Given the description of an element on the screen output the (x, y) to click on. 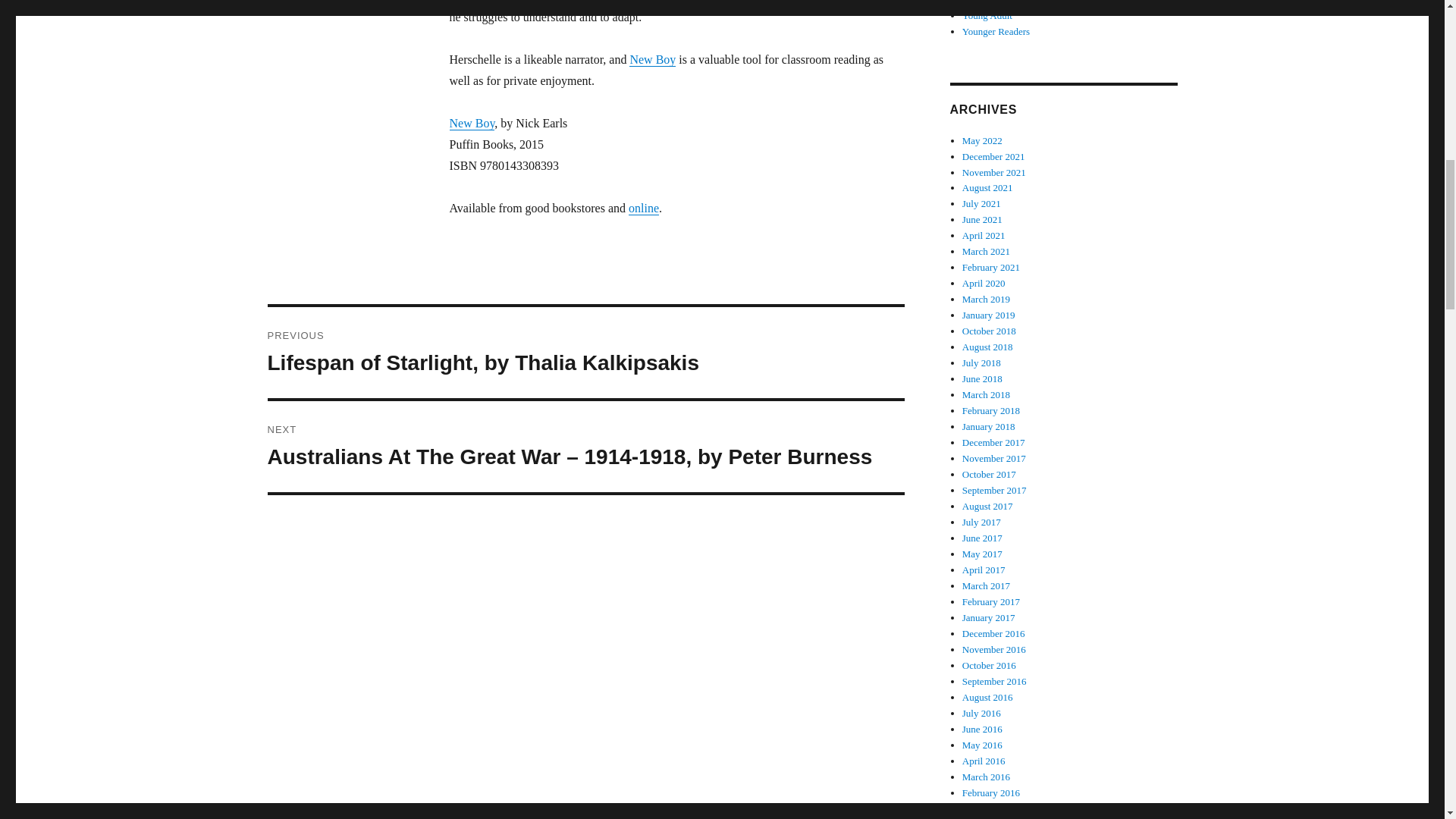
Uncategorised (990, 2)
New Boy (651, 59)
December 2021 (993, 156)
Younger Readers (995, 30)
November 2021 (994, 172)
Young Adult (986, 15)
online (643, 207)
August 2021 (987, 187)
May 2022 (982, 140)
New Boy (471, 123)
